Given the description of an element on the screen output the (x, y) to click on. 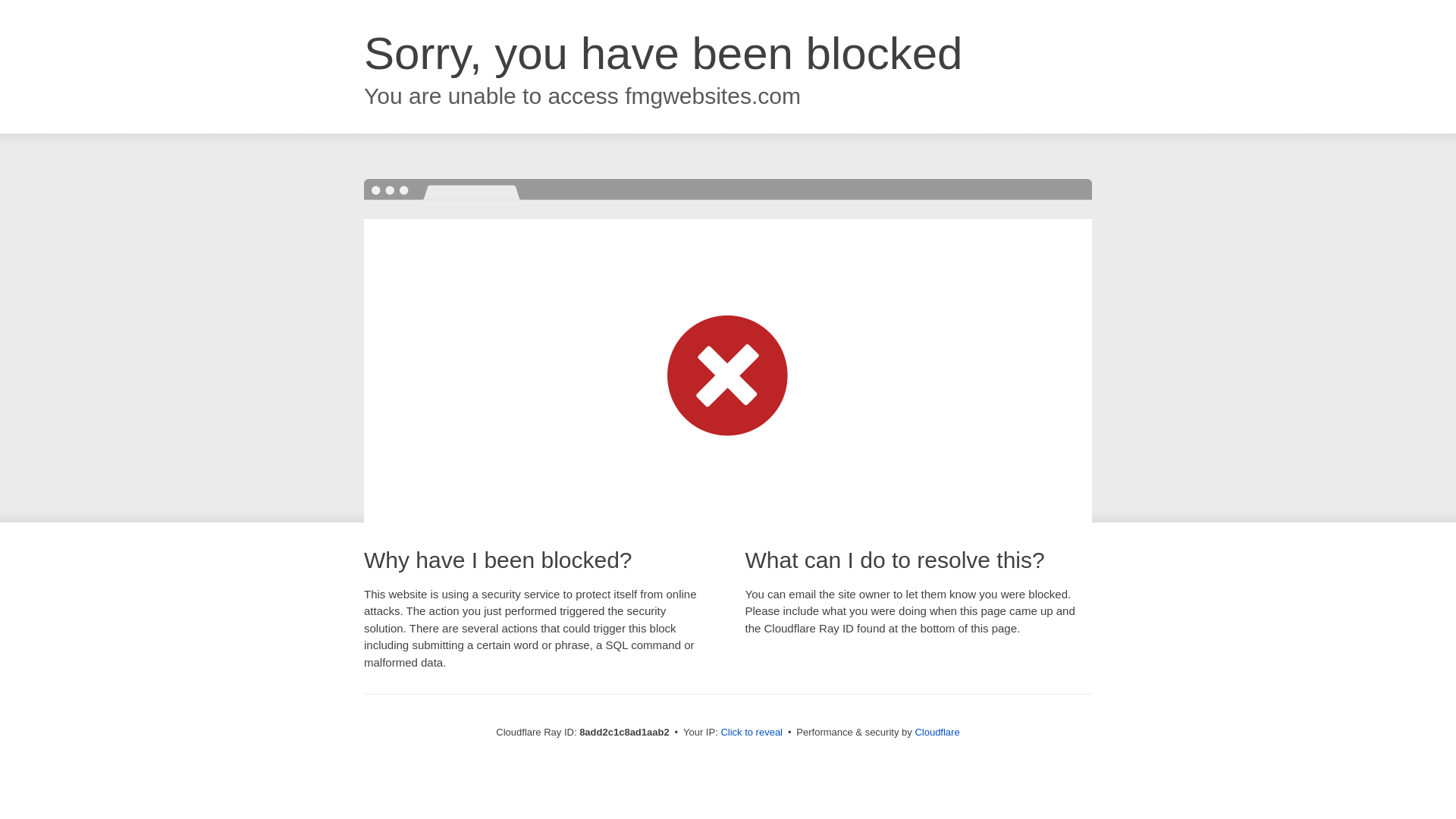
Click to reveal (751, 732)
Cloudflare (936, 731)
